Given the description of an element on the screen output the (x, y) to click on. 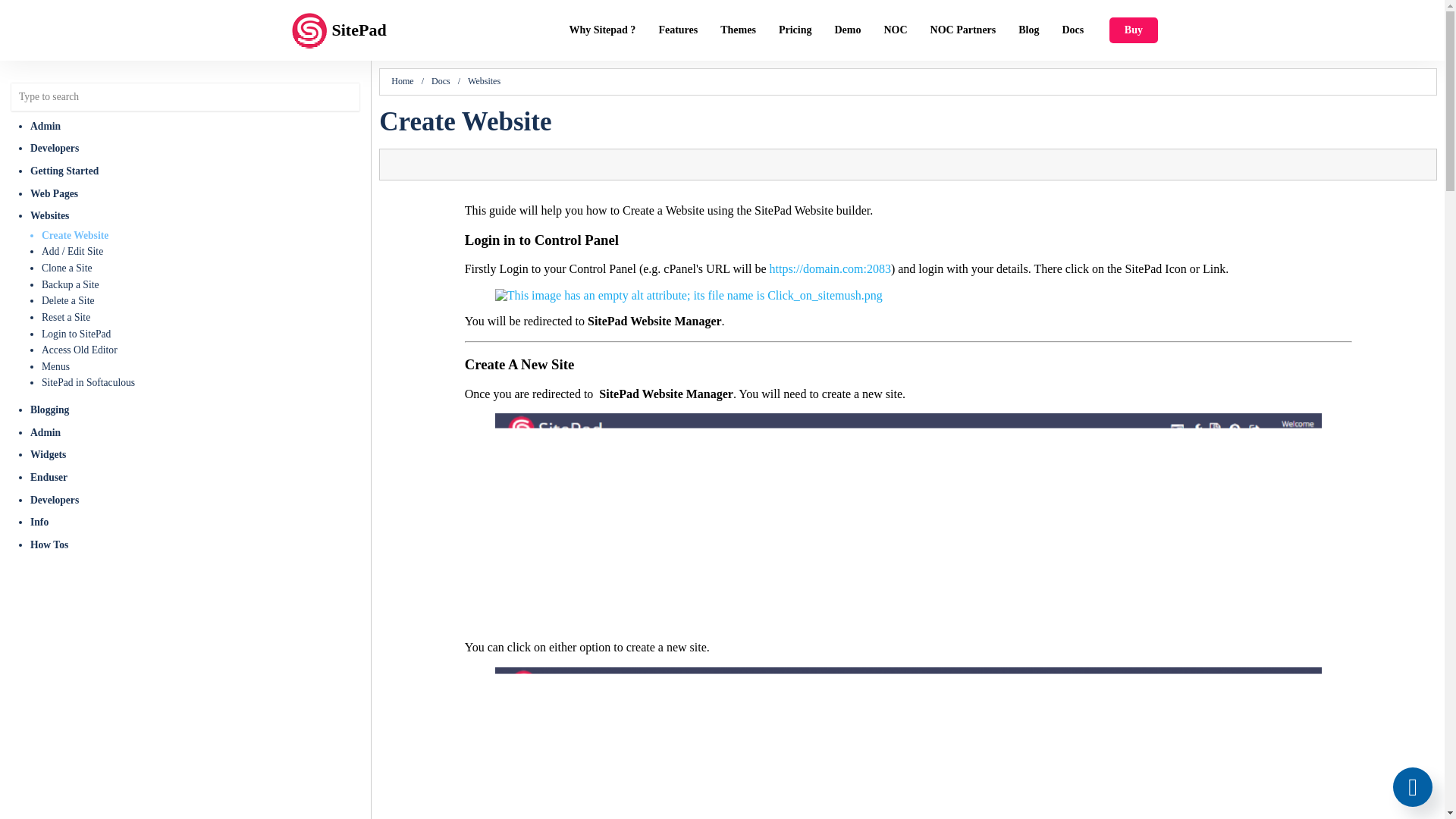
Web Pages (196, 192)
Login to SitePad (202, 334)
Docs (1073, 29)
Getting Started (196, 170)
Pricing (795, 29)
Why Sitepad ? (602, 29)
Demo (847, 29)
Reset a Site (202, 317)
Backup a Site (202, 284)
Create Website (202, 235)
SitePad (365, 30)
logo (308, 30)
Buy (1133, 30)
Delete a Site (202, 300)
Websites (196, 215)
